Given the description of an element on the screen output the (x, y) to click on. 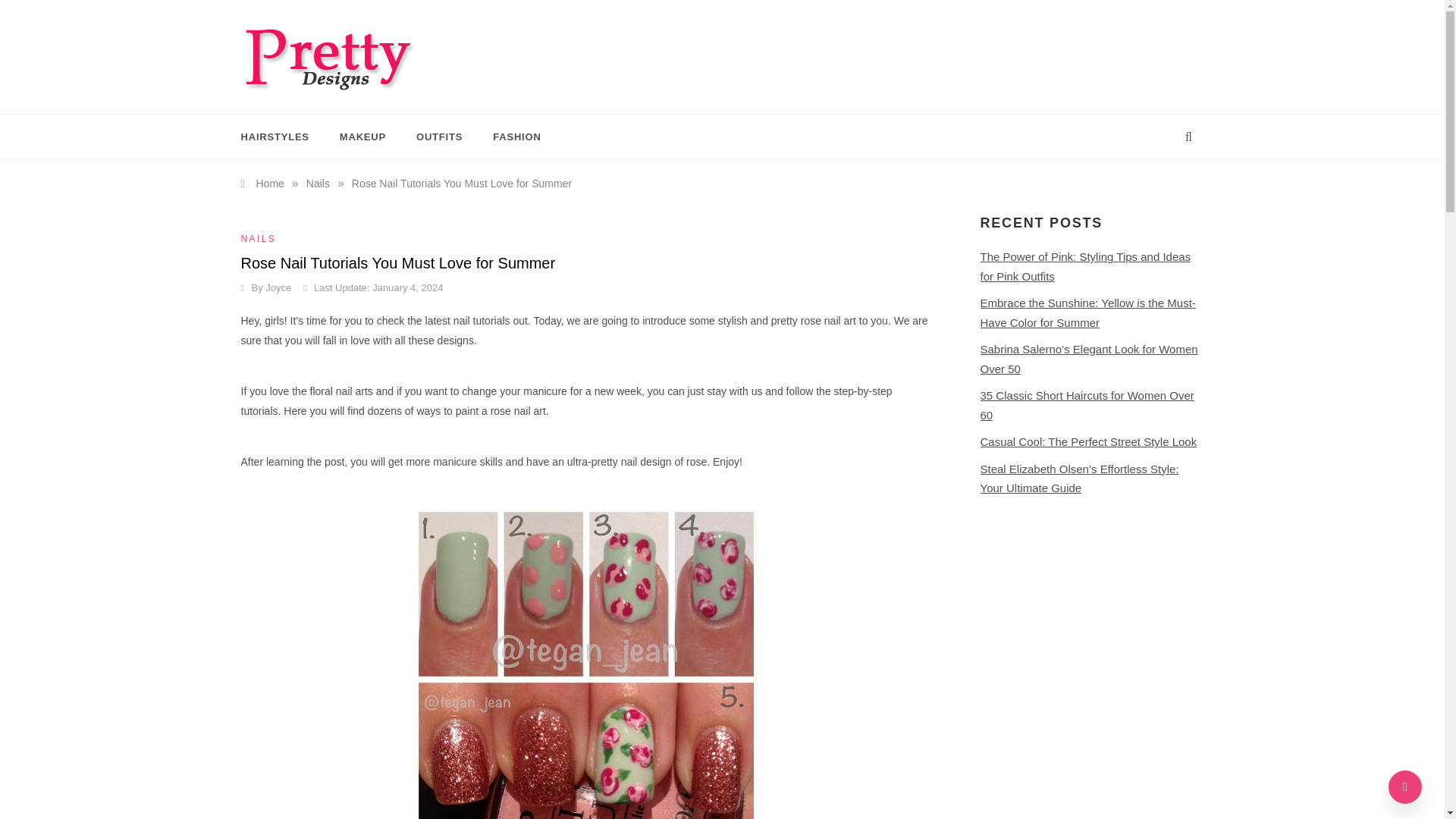
Nails (317, 183)
Go to Top (1405, 786)
MAKEUP (362, 136)
Rose Nail Tutorials You Must Love for Summer (462, 183)
Pretty Designs (313, 102)
FASHION (508, 136)
OUTFITS (439, 136)
Joyce (277, 287)
HAIRSTYLES (282, 136)
NAILS (261, 238)
Home (262, 183)
